Given the description of an element on the screen output the (x, y) to click on. 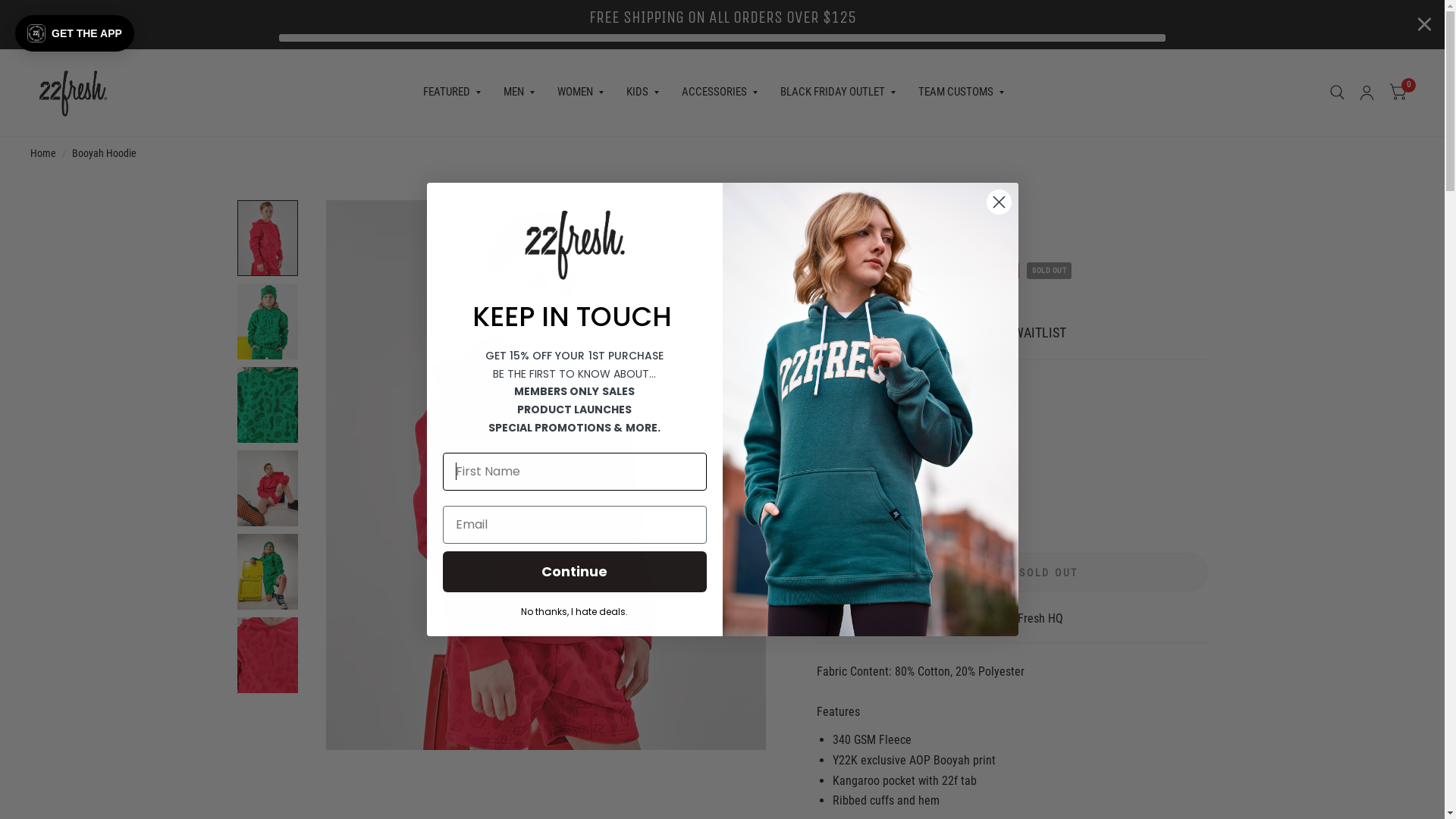
TEAM CUSTOMS Element type: text (961, 92)
WOMEN Element type: text (580, 92)
11 reviews Element type: text (1012, 311)
BLACK FRIDAY OUTLET Element type: text (837, 92)
Close dialog 1 Element type: text (998, 201)
Shipping Element type: text (832, 292)
Sizing guide Element type: text (850, 525)
Submit Element type: text (43, 19)
Continue Element type: text (574, 571)
No thanks, I hate deals. Element type: text (574, 610)
KIDS Element type: text (642, 92)
My Account Element type: hover (1366, 91)
ACCESSORIES Element type: text (719, 92)
JOIN THE WAITLIST Element type: text (1012, 332)
FEATURED Element type: text (451, 92)
Search Element type: hover (1337, 91)
0 Element type: text (1397, 91)
Home Element type: text (43, 153)
MEN Element type: text (518, 92)
SOLD OUT Element type: text (1049, 572)
